Given the description of an element on the screen output the (x, y) to click on. 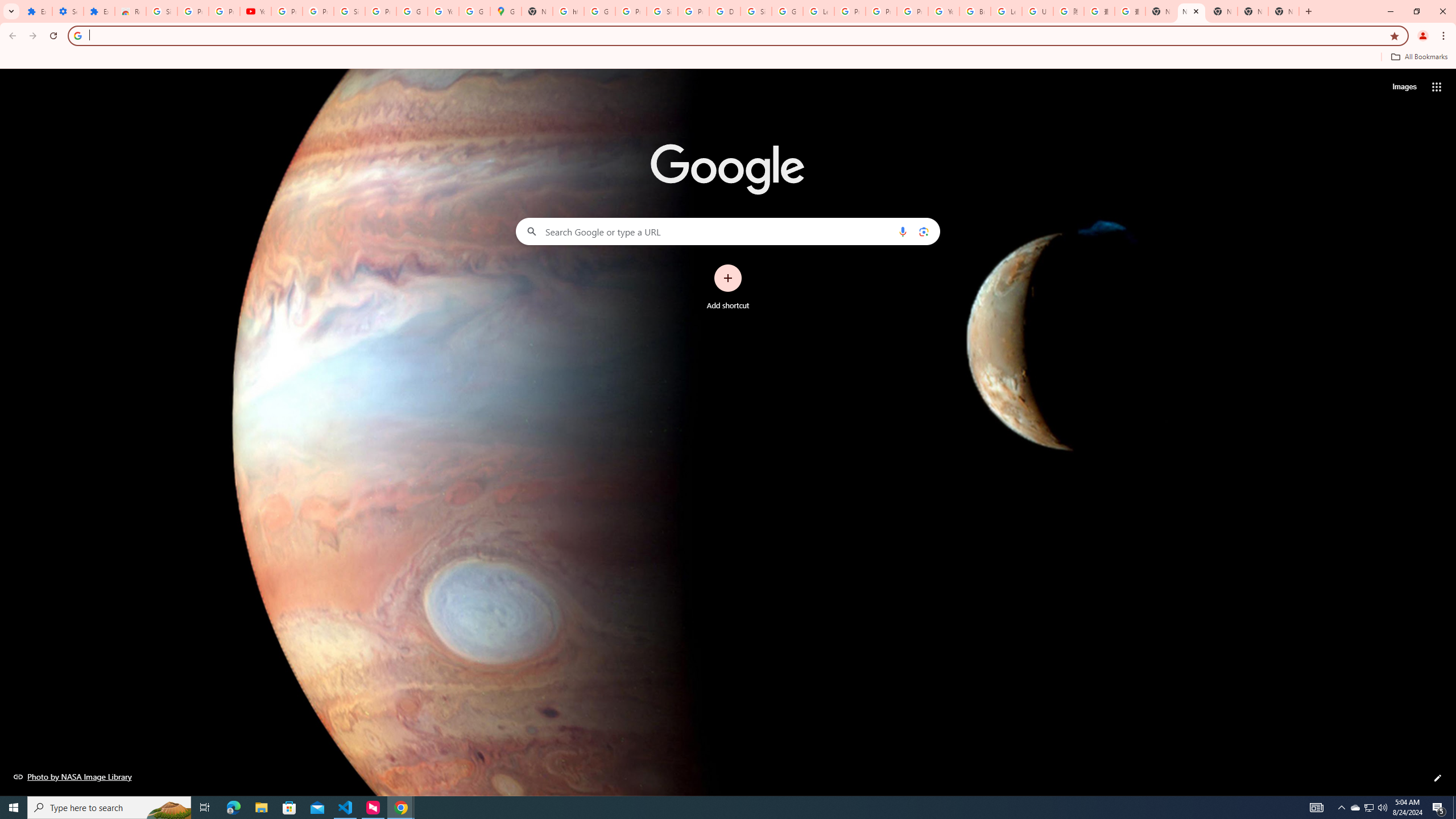
Extensions (36, 11)
Reviews: Helix Fruit Jump Arcade Game (130, 11)
Sign in - Google Accounts (349, 11)
Google Account (411, 11)
